Given the description of an element on the screen output the (x, y) to click on. 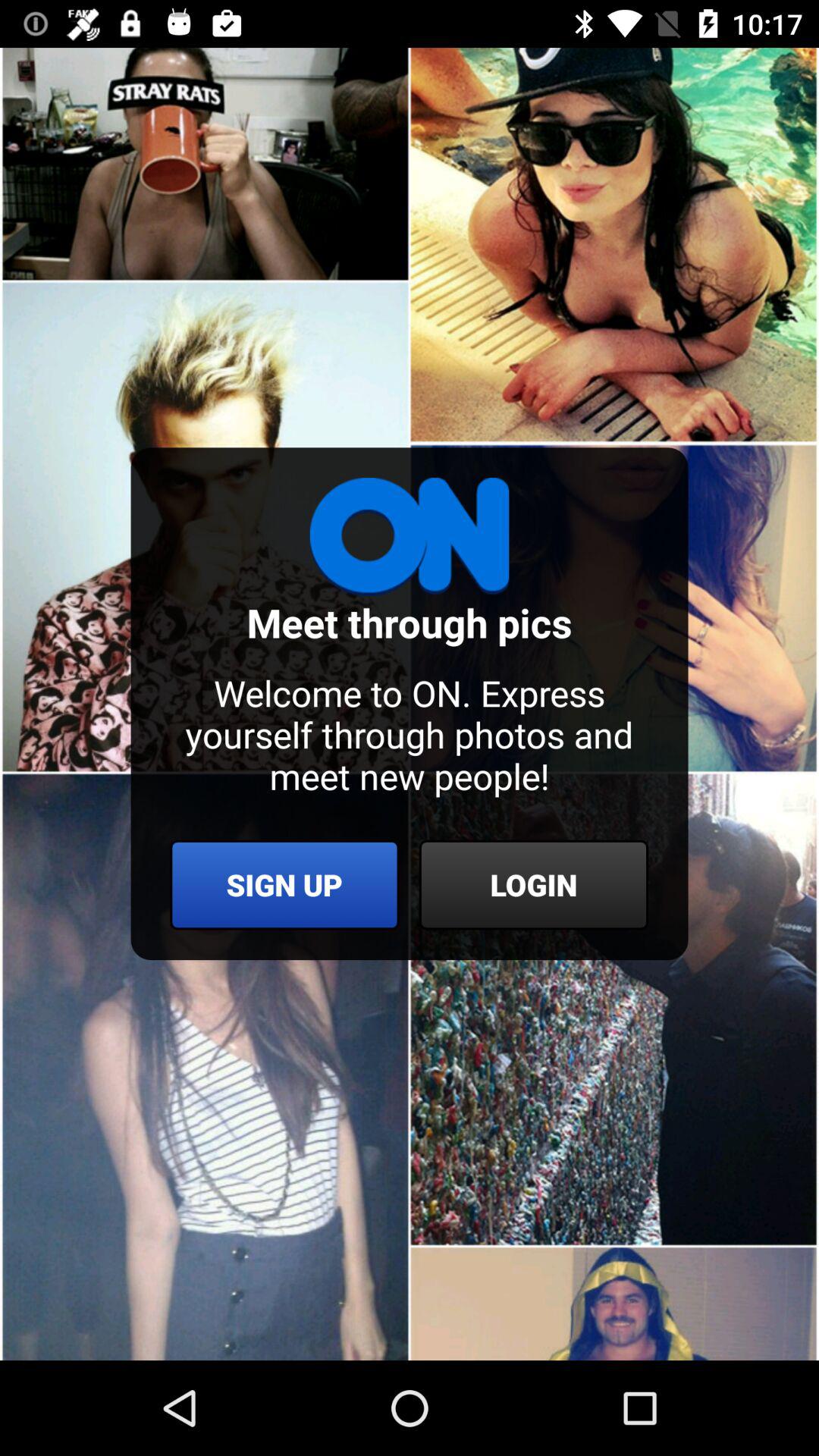
jump to the sign up icon (284, 884)
